Given the description of an element on the screen output the (x, y) to click on. 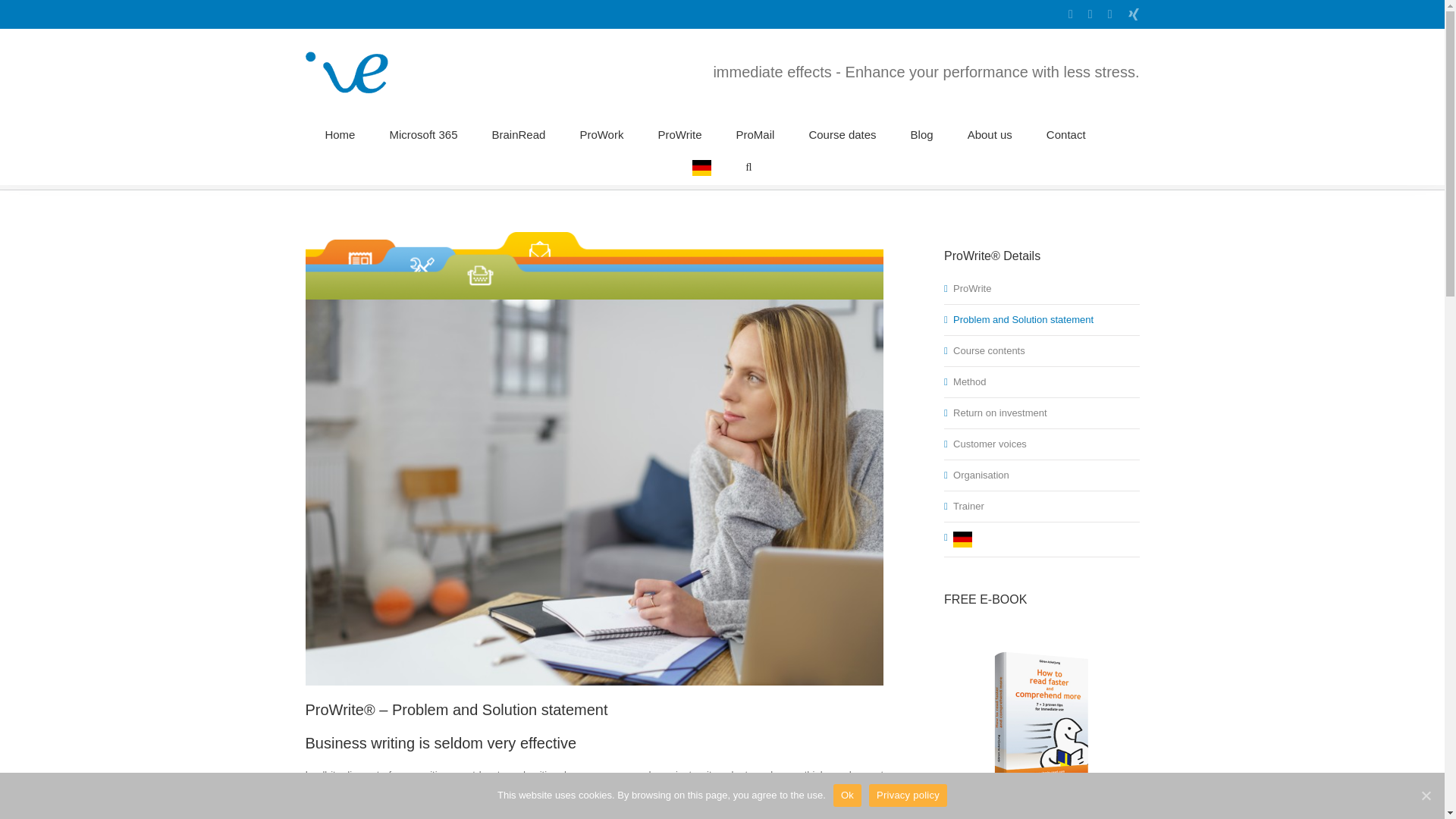
Course dates (842, 133)
Home (942, 171)
ProWrite (980, 171)
ProMail (755, 133)
ProWork (601, 133)
Contact (1066, 133)
Microsoft 365 (422, 133)
XING (1132, 14)
BrainRead (518, 133)
About us (989, 133)
ProWrite (679, 133)
Home (339, 133)
